Given the description of an element on the screen output the (x, y) to click on. 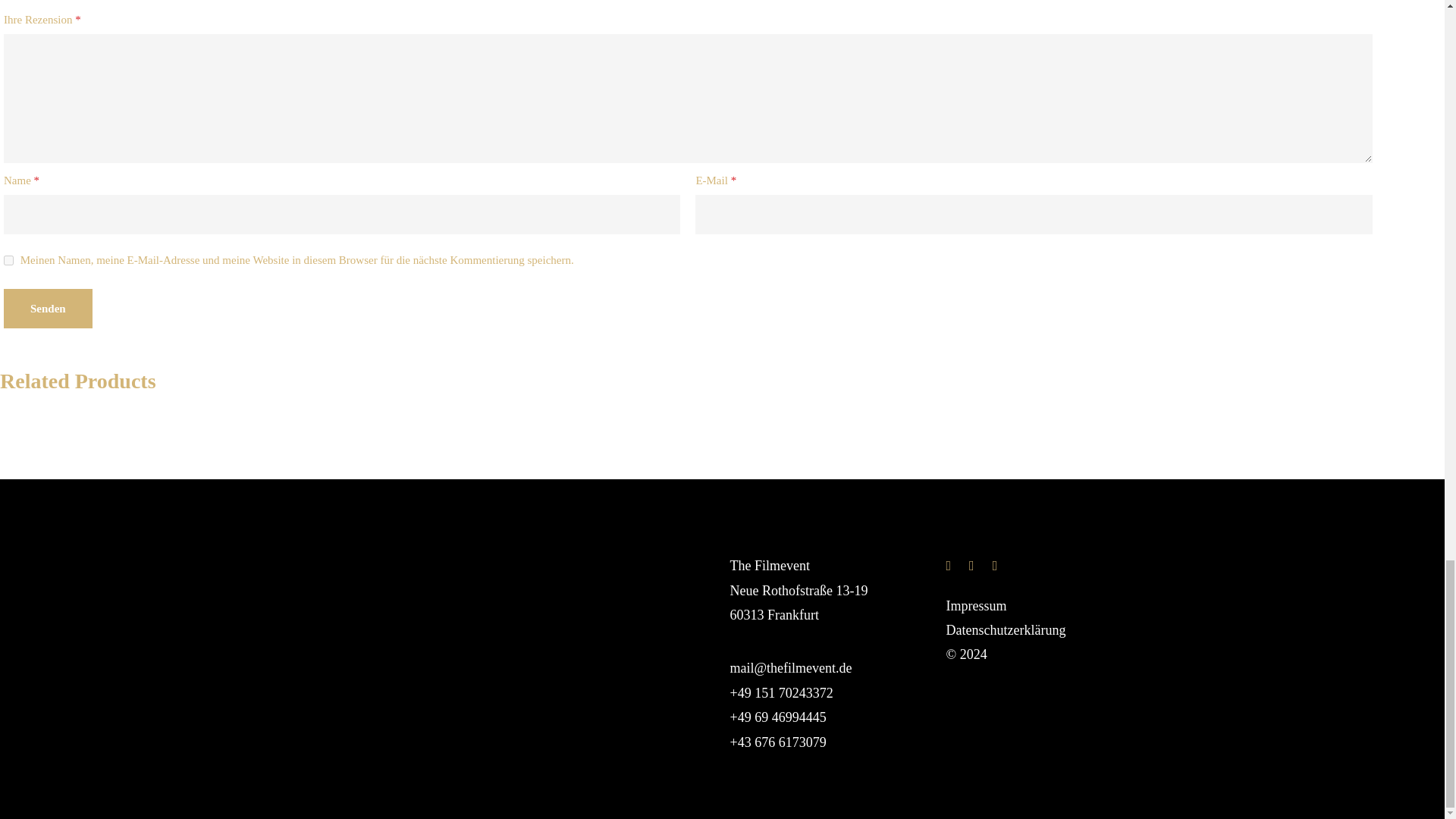
yes (8, 260)
Senden (48, 308)
